Given the description of an element on the screen output the (x, y) to click on. 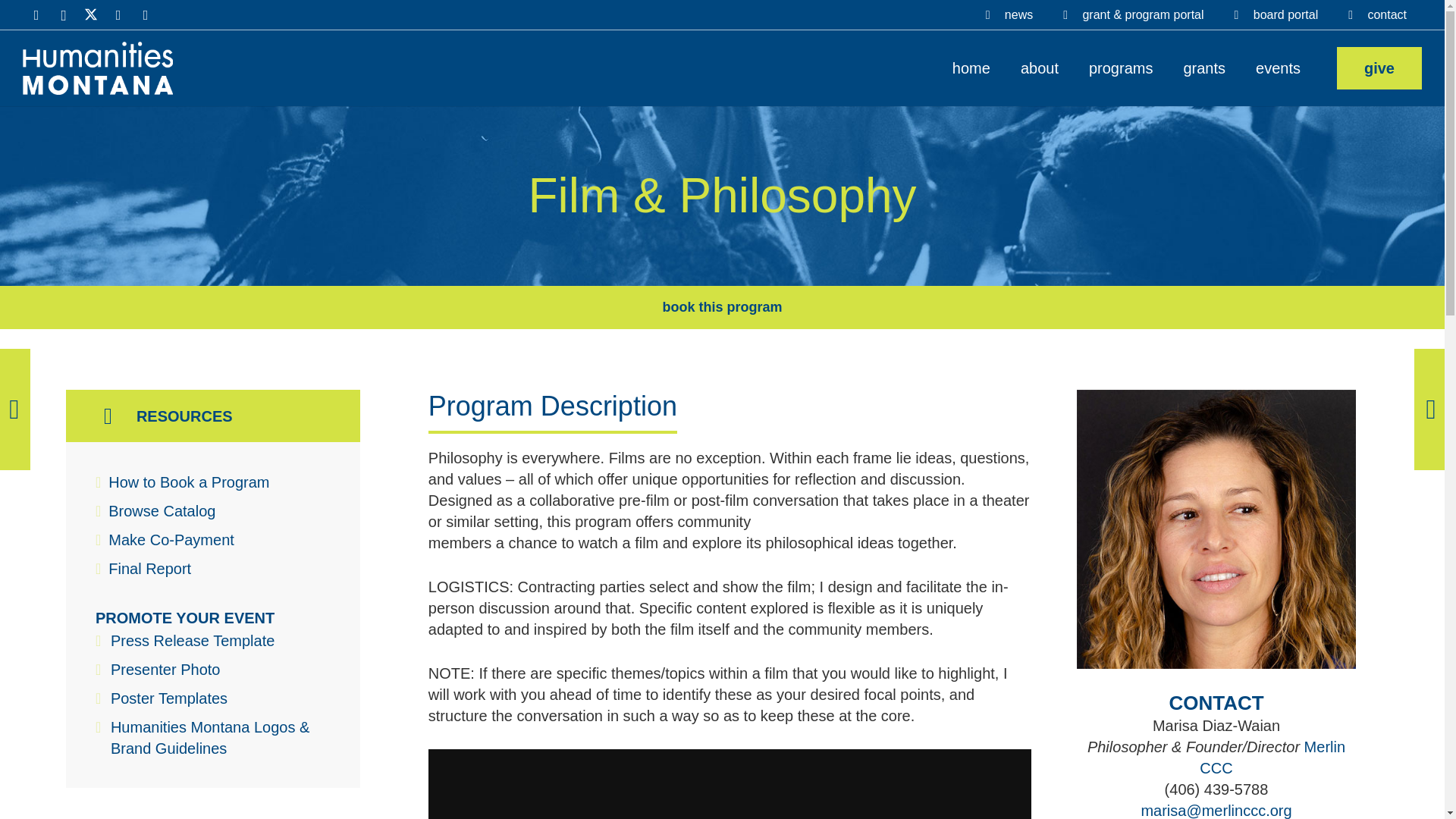
give (1379, 67)
events (1278, 68)
Instagram (63, 14)
about (1040, 68)
Flickr (145, 14)
news (1009, 15)
Youtube video player (729, 784)
home (971, 68)
programs (1120, 68)
Facebook (36, 14)
Twitter (90, 14)
contact (1377, 15)
board portal (1276, 15)
YouTube (118, 14)
grants (1203, 68)
